Given the description of an element on the screen output the (x, y) to click on. 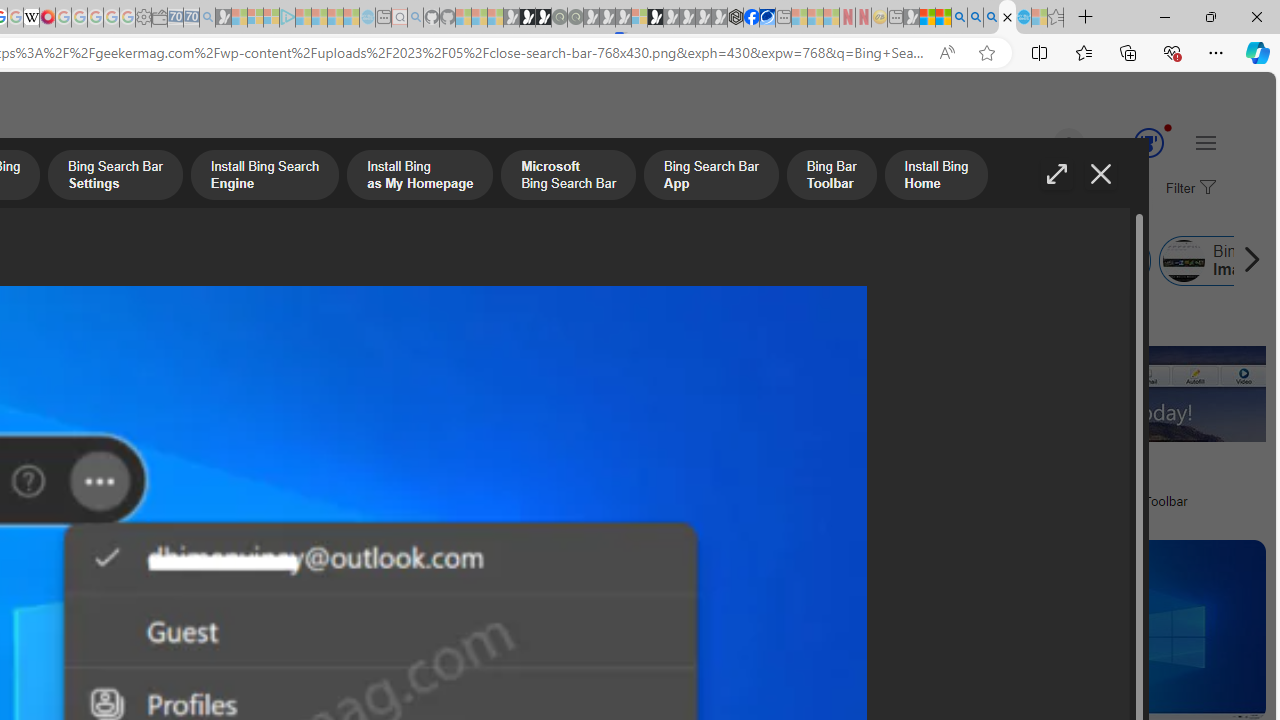
Microsoft Rewards 84 (1130, 143)
Image result for Bing Search Bar Install (1106, 630)
Download Bing Bar, the new Bing Toolbar (1105, 500)
Install Bing as My Homepage (418, 177)
